Given the description of an element on the screen output the (x, y) to click on. 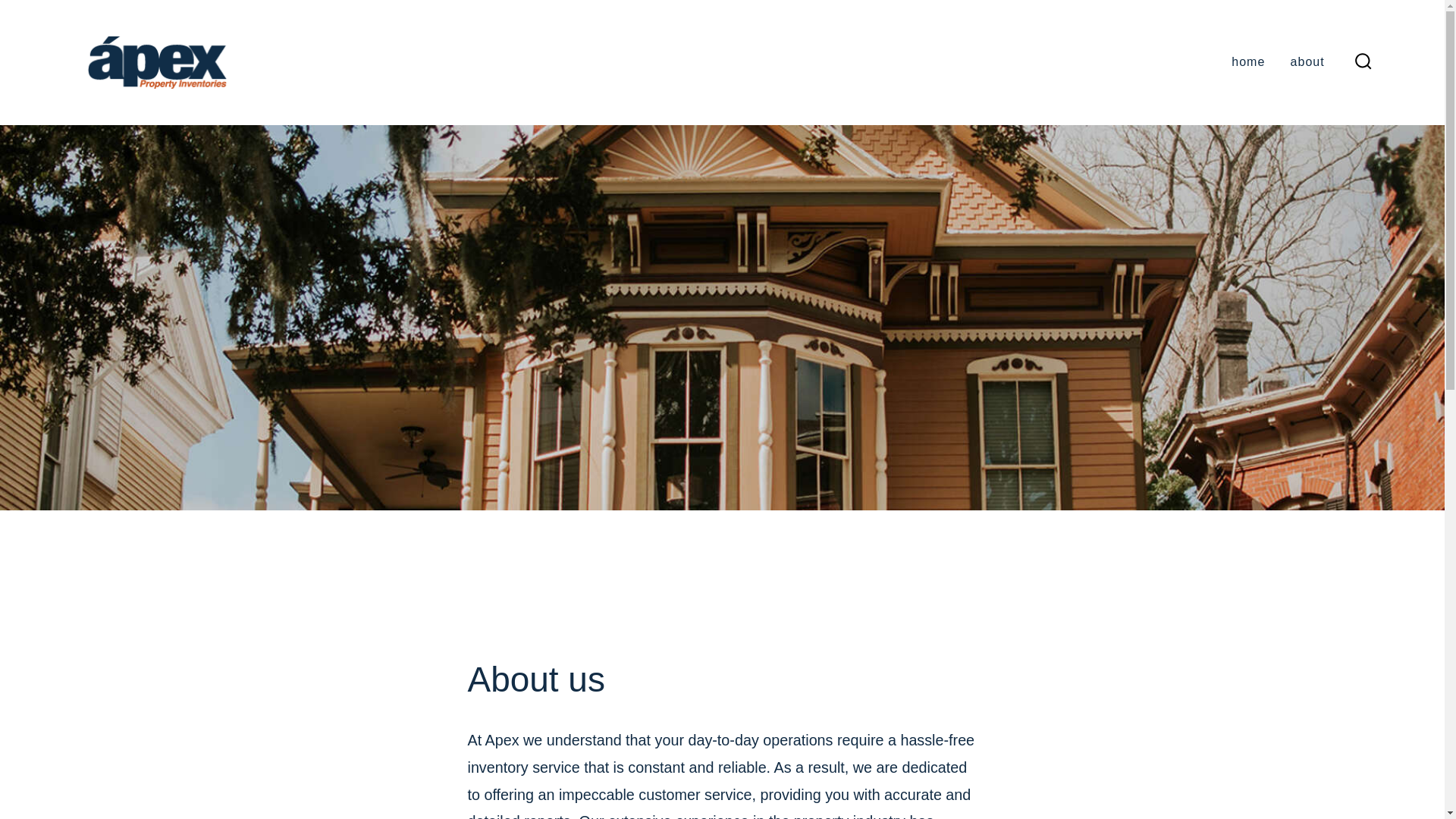
home (1248, 62)
about (1307, 62)
search toggle (1362, 62)
